Given the description of an element on the screen output the (x, y) to click on. 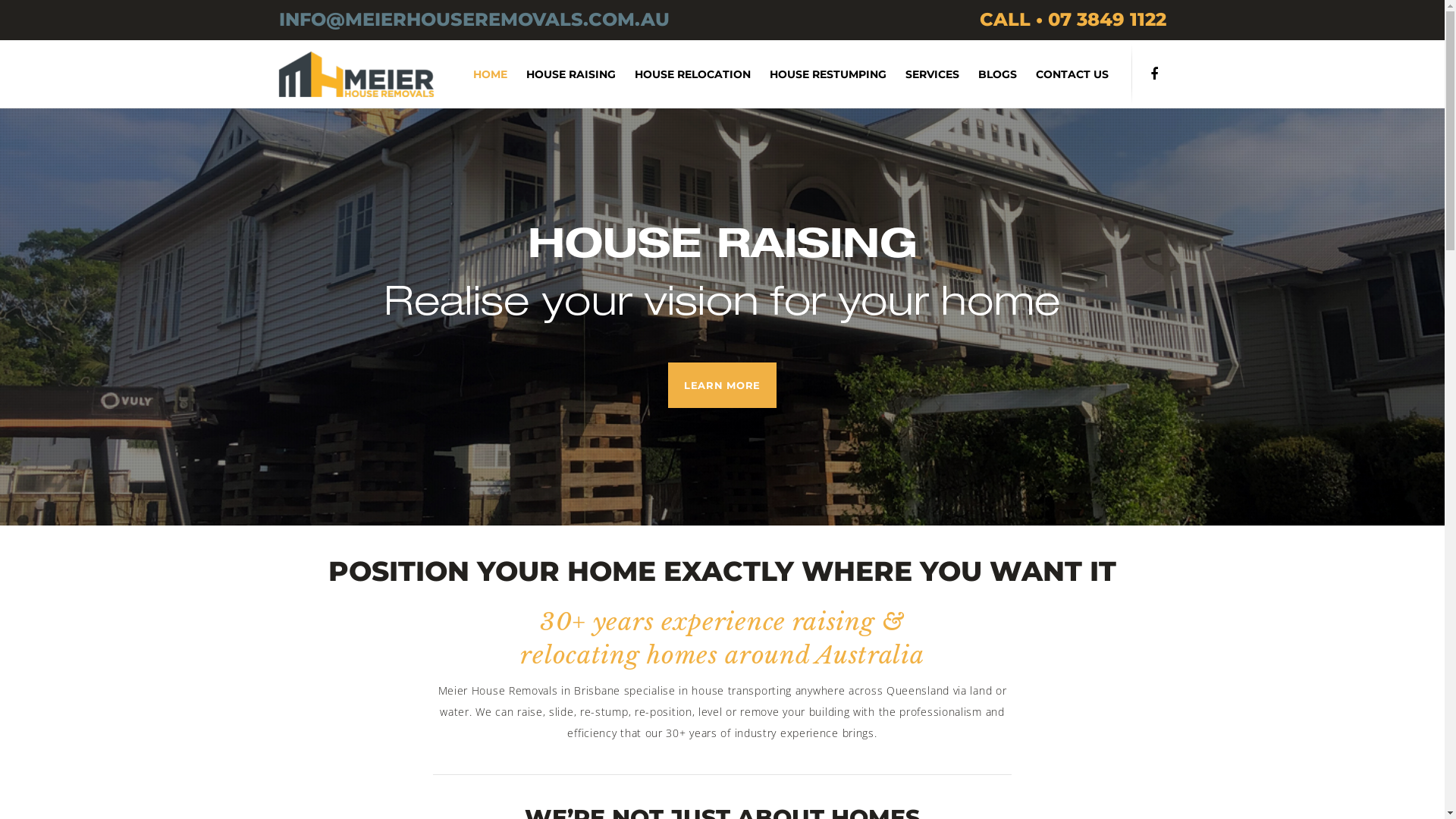
HOUSE RAISING Element type: text (561, 74)
SERVICES Element type: text (922, 74)
LEARN MORE Element type: text (722, 384)
CONTACT US Element type: text (1062, 74)
HOUSE RELOCATION Element type: text (682, 74)
INFO@MEIERHOUSEREMOVALS.COM.AU Element type: text (474, 19)
BLOGS Element type: text (987, 74)
HOUSE RESTUMPING Element type: text (818, 74)
HOME Element type: text (480, 74)
